Given the description of an element on the screen output the (x, y) to click on. 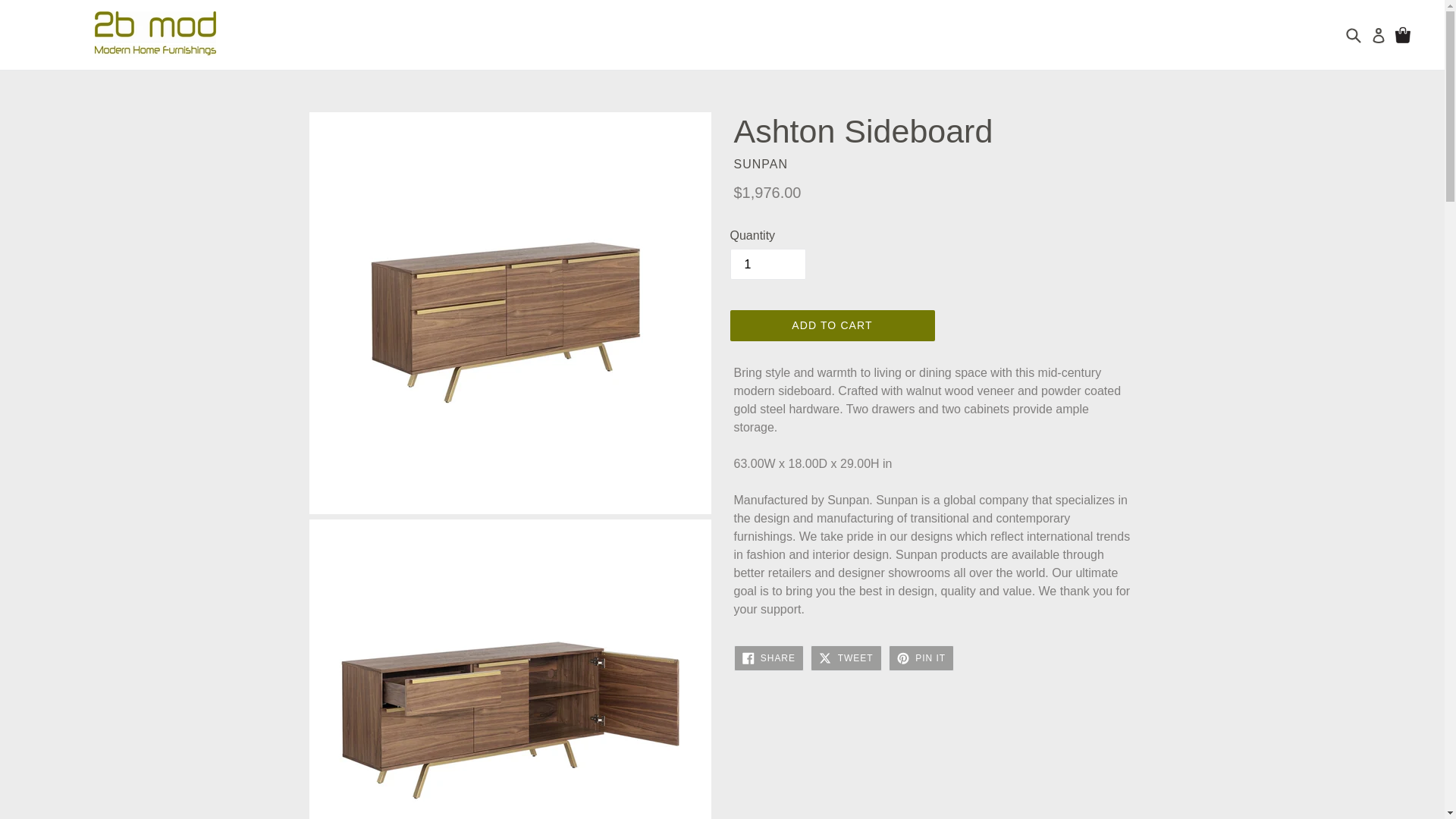
Share on Facebook (768, 657)
Tweet on Twitter (845, 657)
Pin on Pinterest (920, 657)
1 (767, 264)
sunpan (761, 164)
